Given the description of an element on the screen output the (x, y) to click on. 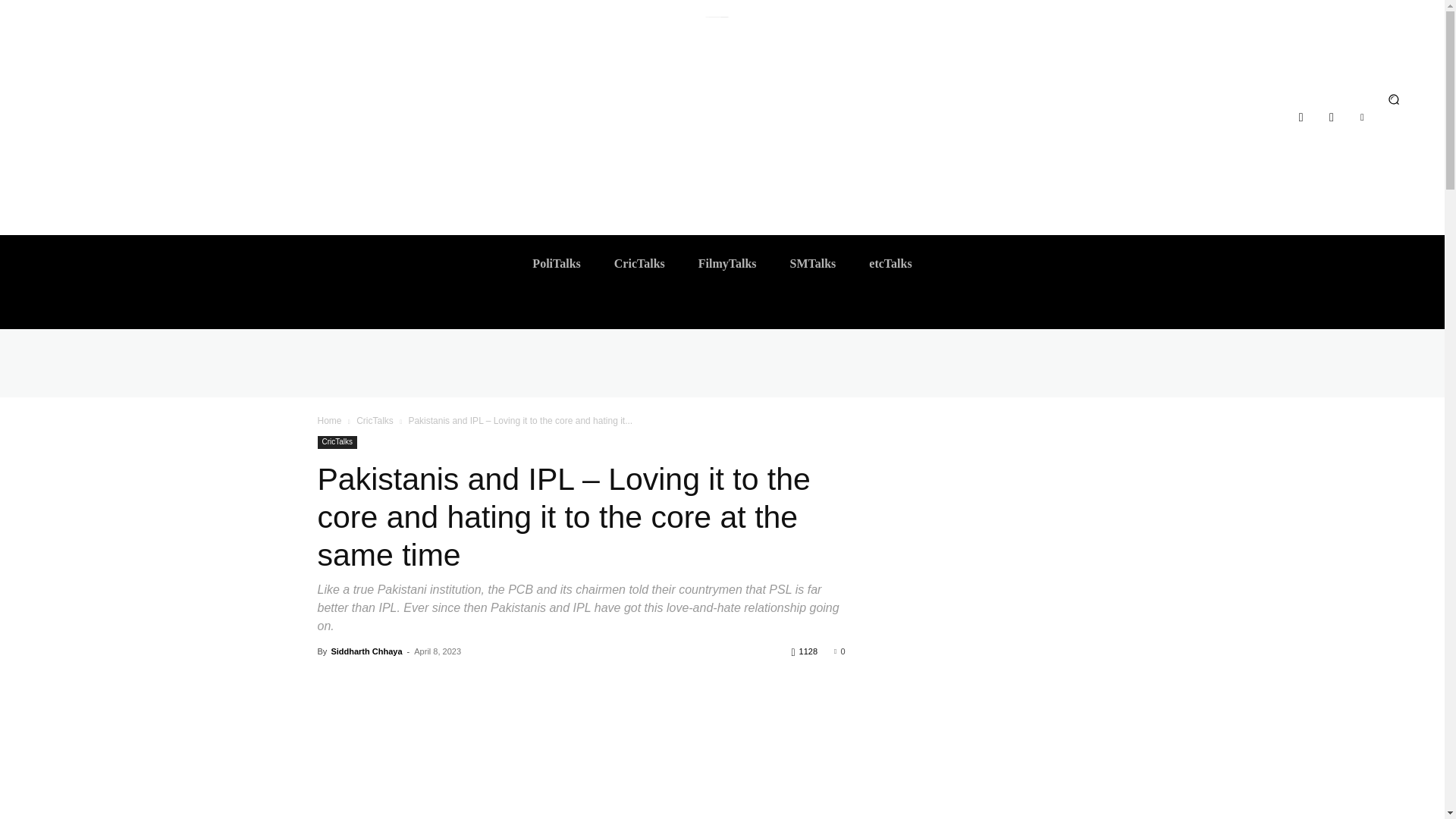
CricTalks (336, 441)
CricTalks (639, 263)
Home (328, 420)
Instagram (1331, 117)
SMTalks (812, 263)
etcTalks (890, 263)
PoliTalks (556, 263)
FilmyTalks (727, 263)
0 (839, 651)
CricTalks (374, 420)
